Given the description of an element on the screen output the (x, y) to click on. 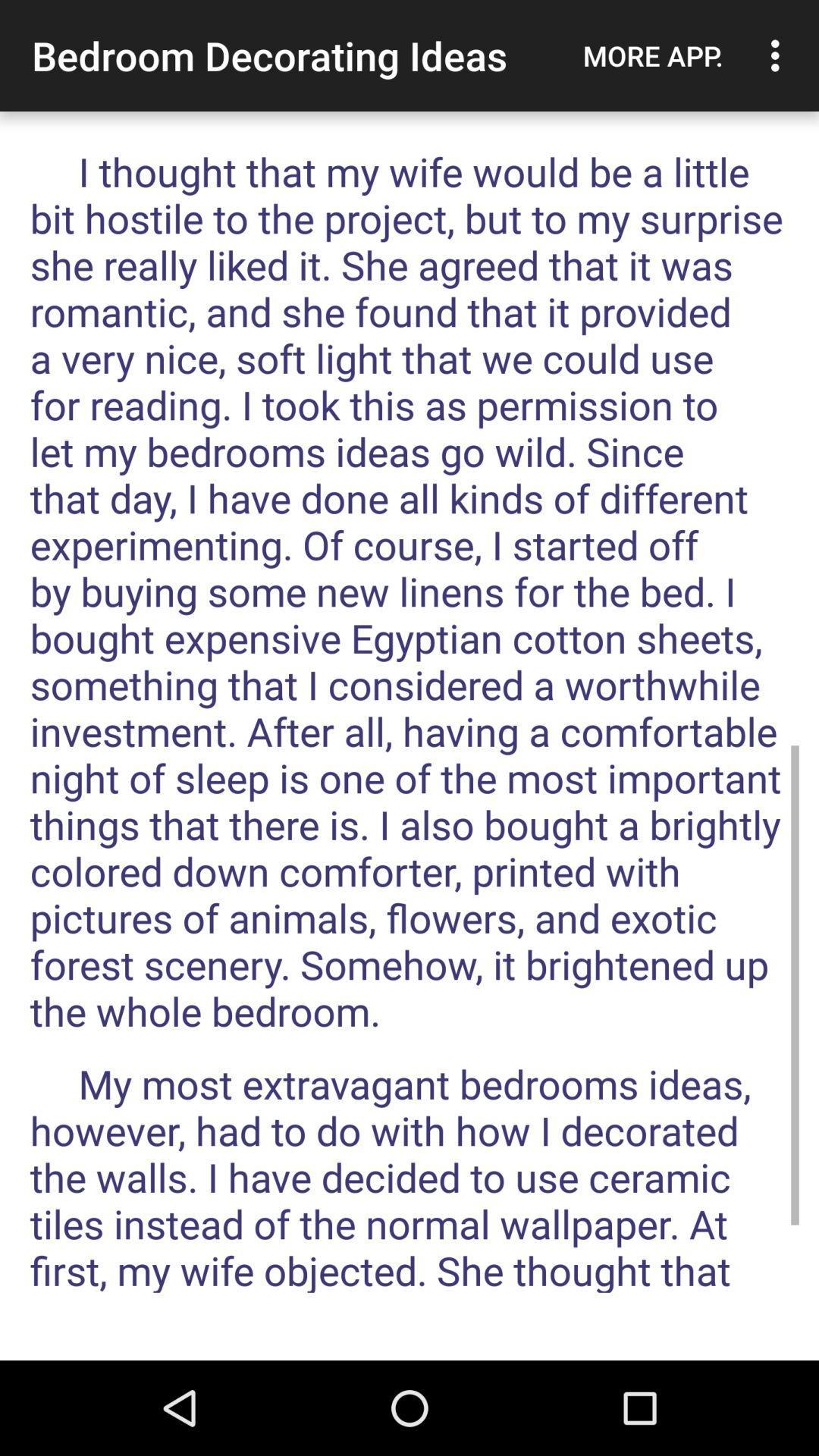
scroll until the more app. icon (653, 55)
